Given the description of an element on the screen output the (x, y) to click on. 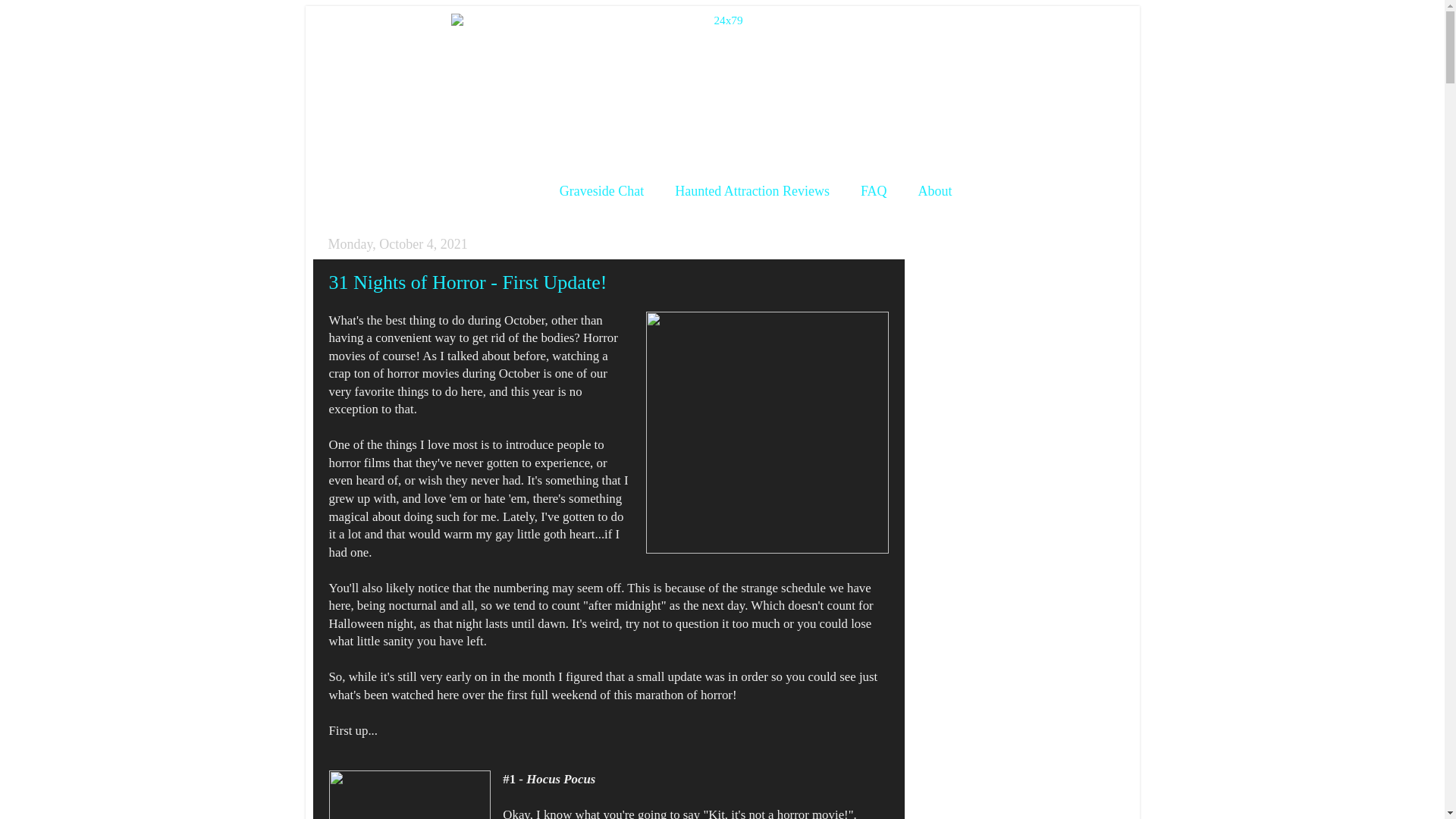
Haunted Attraction Reviews Element type: text (752, 191)
Home Element type: text (510, 191)
31 Nights of Horror - First Update! Element type: text (468, 282)
Graveside Chat Element type: text (602, 191)
FAQ Element type: text (874, 191)
About Element type: text (934, 191)
